Given the description of an element on the screen output the (x, y) to click on. 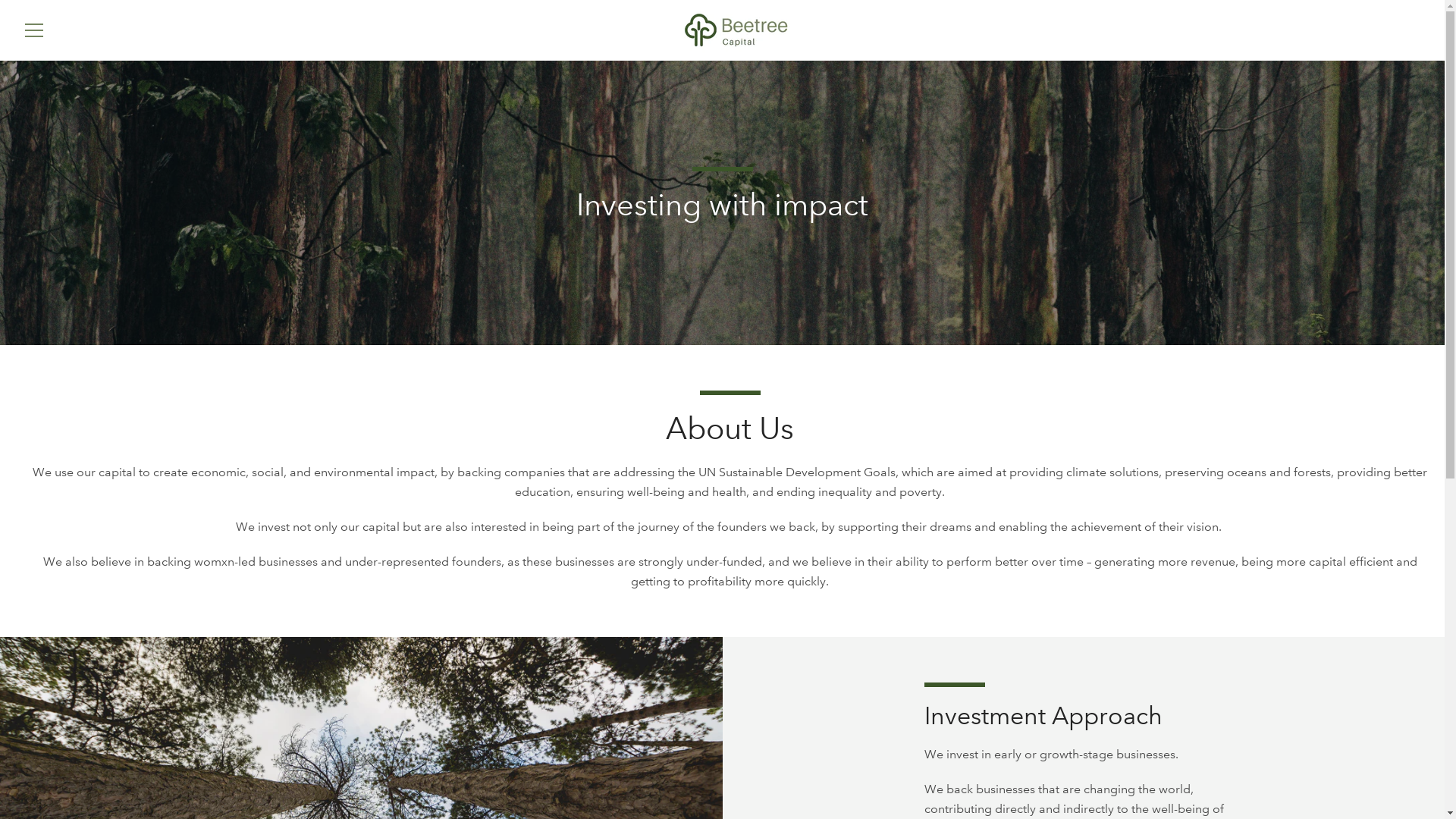
Twitter Element type: text (22, 778)
Pinterest Element type: text (48, 778)
hi@beetreecapital.ca Element type: text (1195, 779)
MENU Element type: text (34, 30)
Skip to content Element type: text (0, 0)
